Given the description of an element on the screen output the (x, y) to click on. 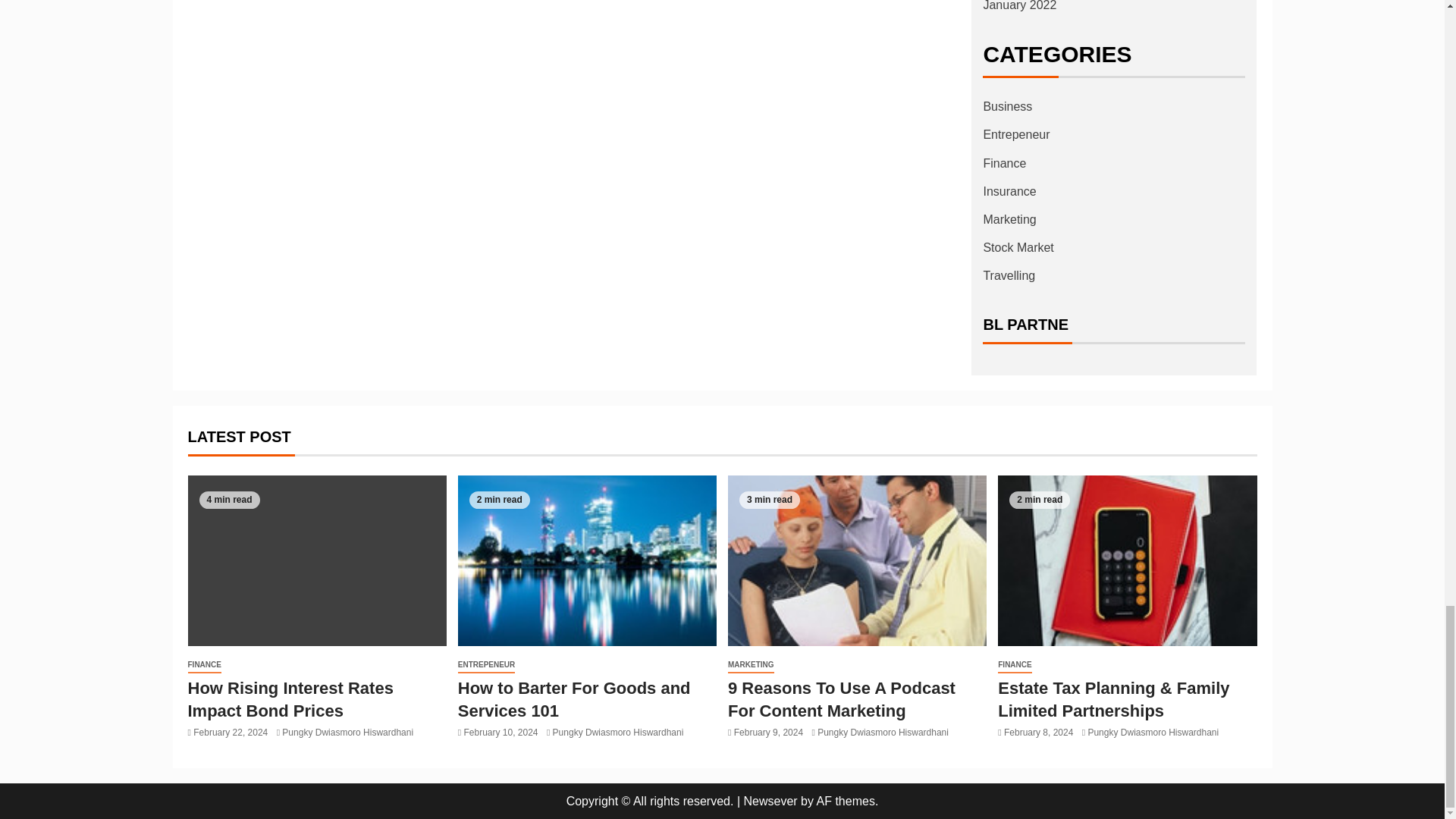
How to Barter For Goods and Services 101 (587, 560)
9 Reasons To Use A Podcast For Content Marketing (857, 560)
